Given the description of an element on the screen output the (x, y) to click on. 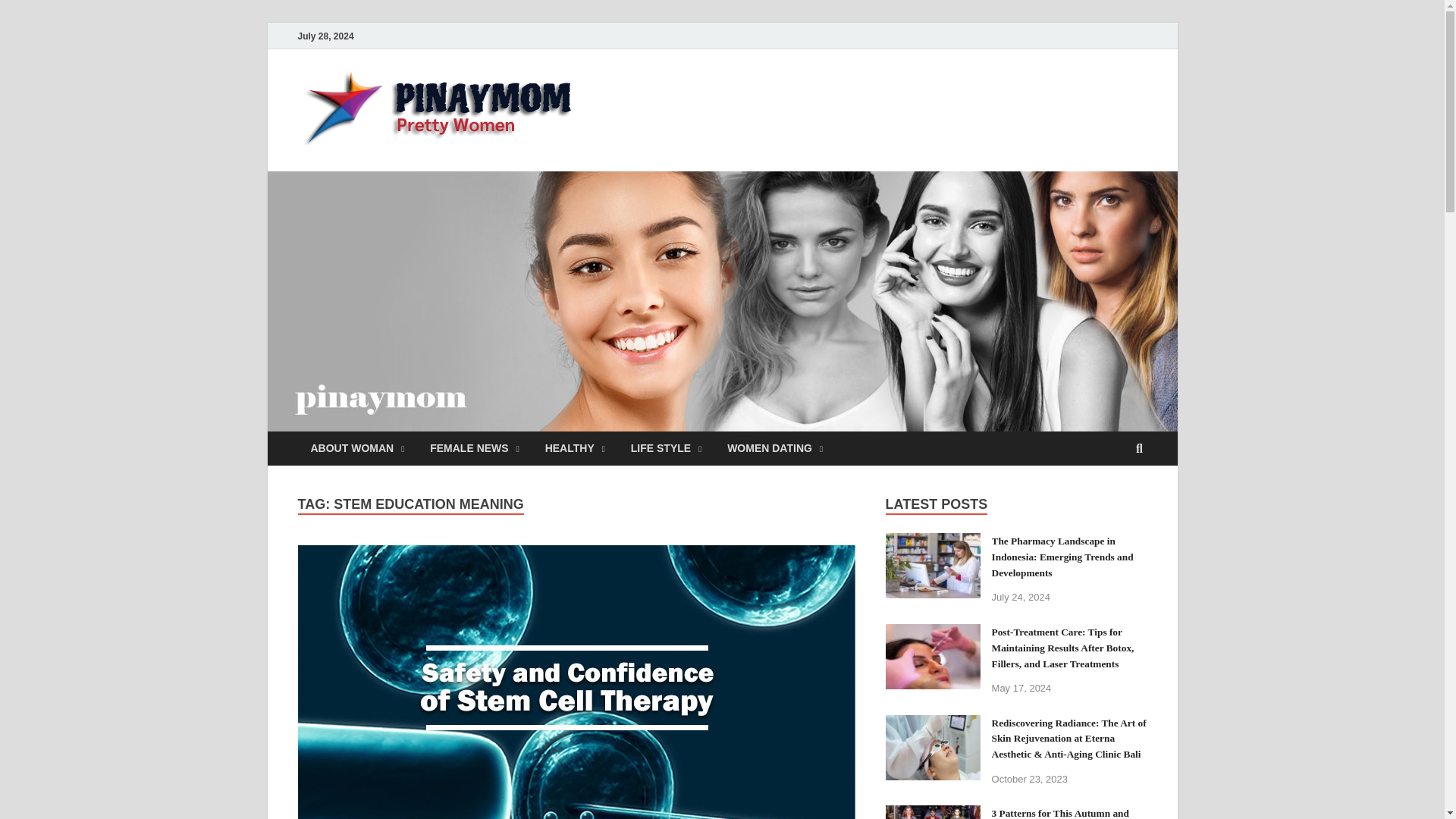
3 Patterns for This Autumn and How to Wear Them (932, 814)
FEMALE NEWS (473, 448)
Pinaymom (660, 100)
LIFE STYLE (665, 448)
WOMEN DATING (774, 448)
ABOUT WOMAN (356, 448)
HEALTHY (574, 448)
